Given the description of an element on the screen output the (x, y) to click on. 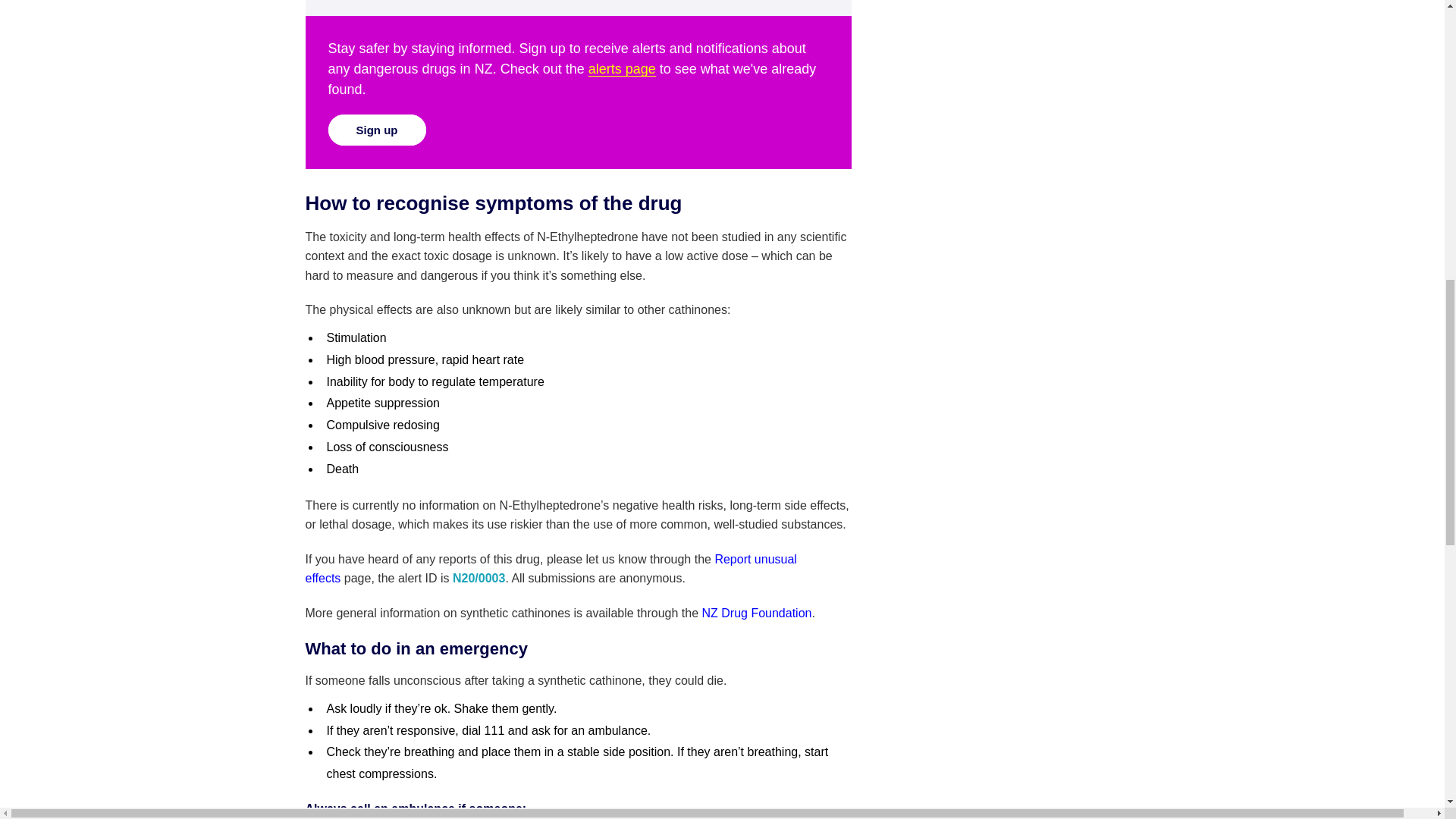
Sign up (376, 129)
View the alerts and notification page (622, 68)
NZ Drug Foundation (755, 612)
Report unusual effects (550, 568)
Report unusual effects (550, 568)
alerts page (622, 68)
